Given the description of an element on the screen output the (x, y) to click on. 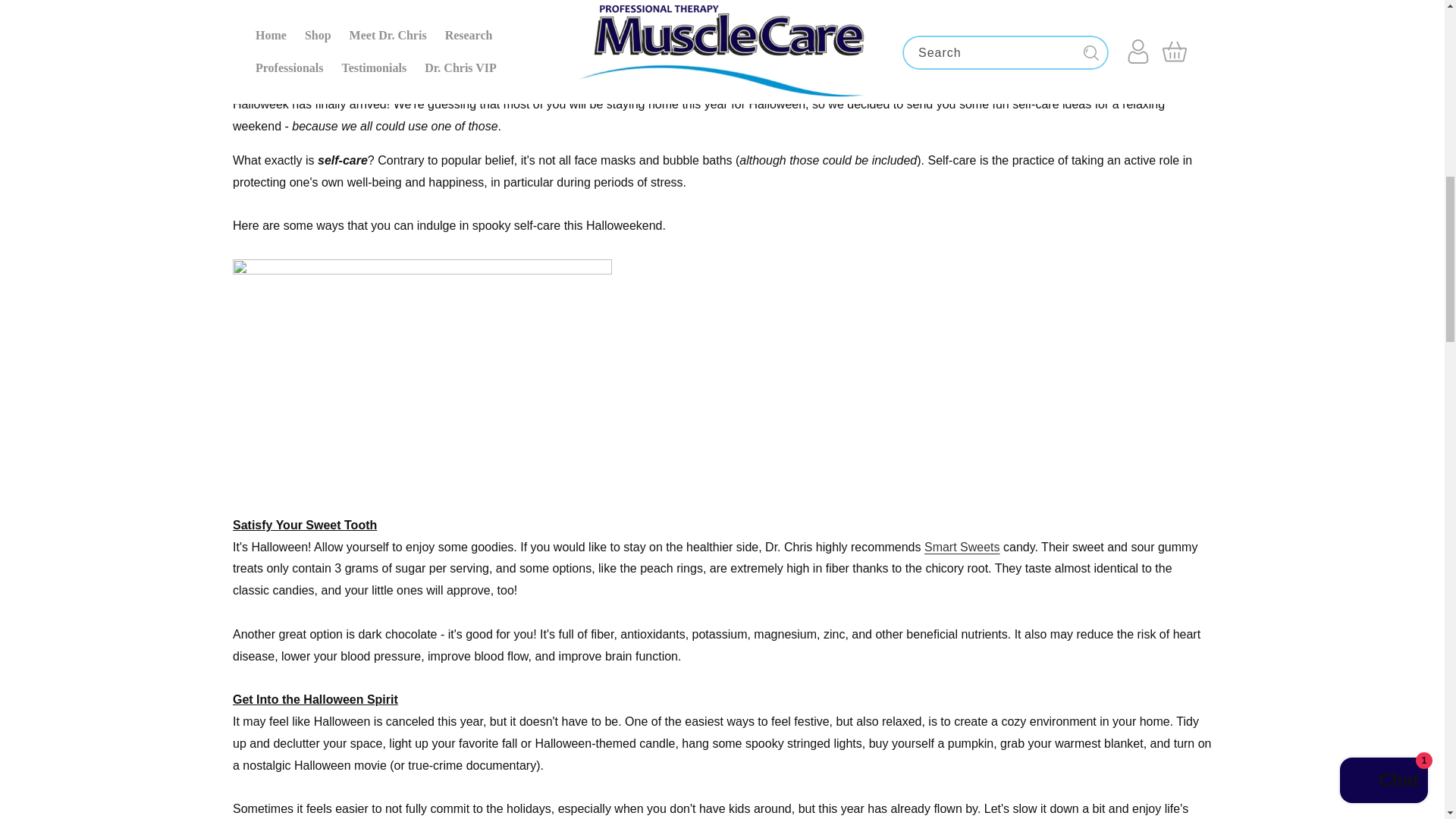
Smart Sweets (962, 546)
